Given the description of an element on the screen output the (x, y) to click on. 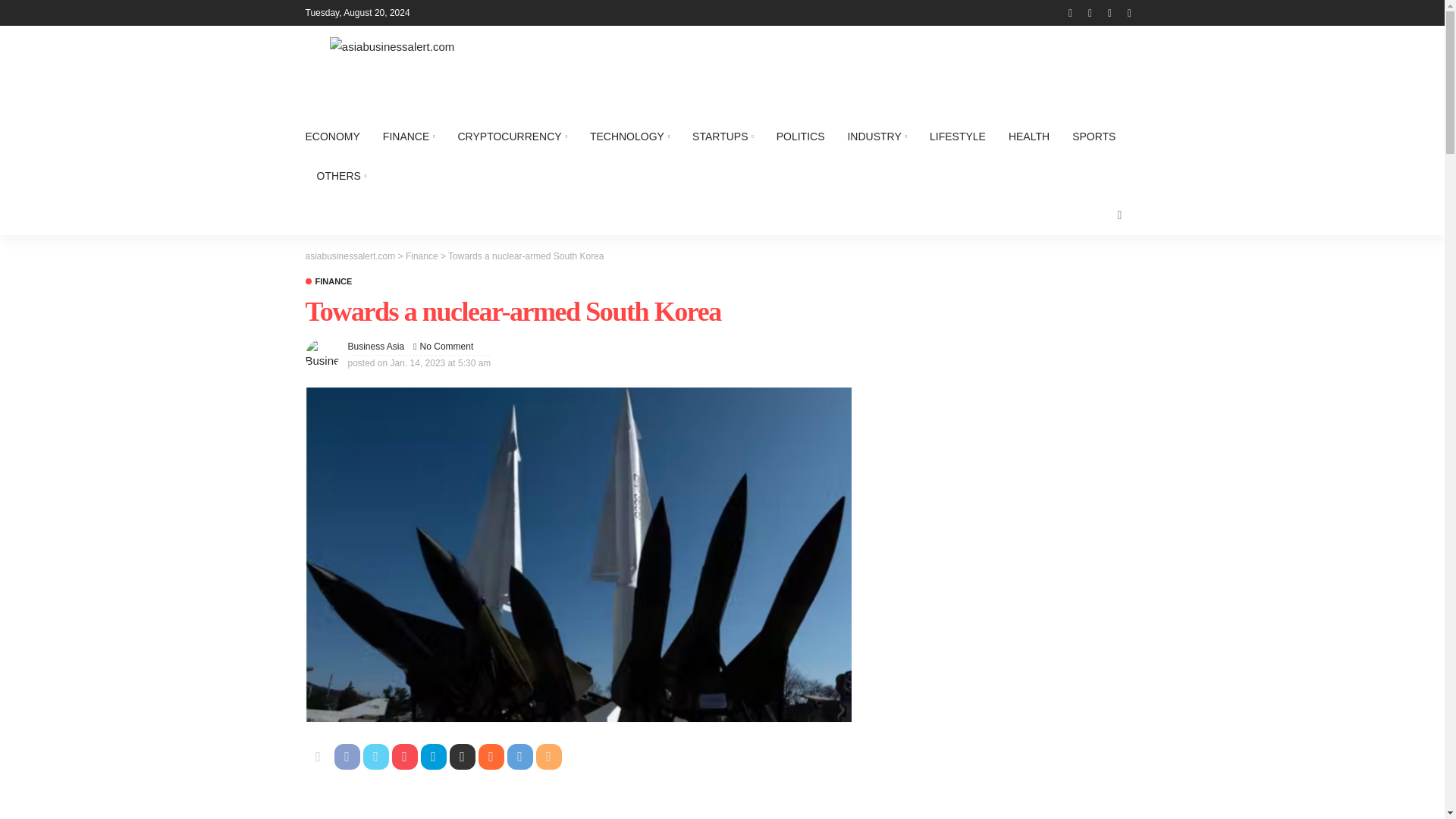
SPORTS (1093, 136)
LIFESTYLE (957, 136)
HEALTH (1029, 136)
INDUSTRY (876, 136)
POLITICS (800, 136)
FINANCE (408, 136)
CRYPTOCURRENCY (511, 136)
ECONOMY (337, 136)
Go to the Finance Category archives. (422, 255)
TECHNOLOGY (629, 136)
